Given the description of an element on the screen output the (x, y) to click on. 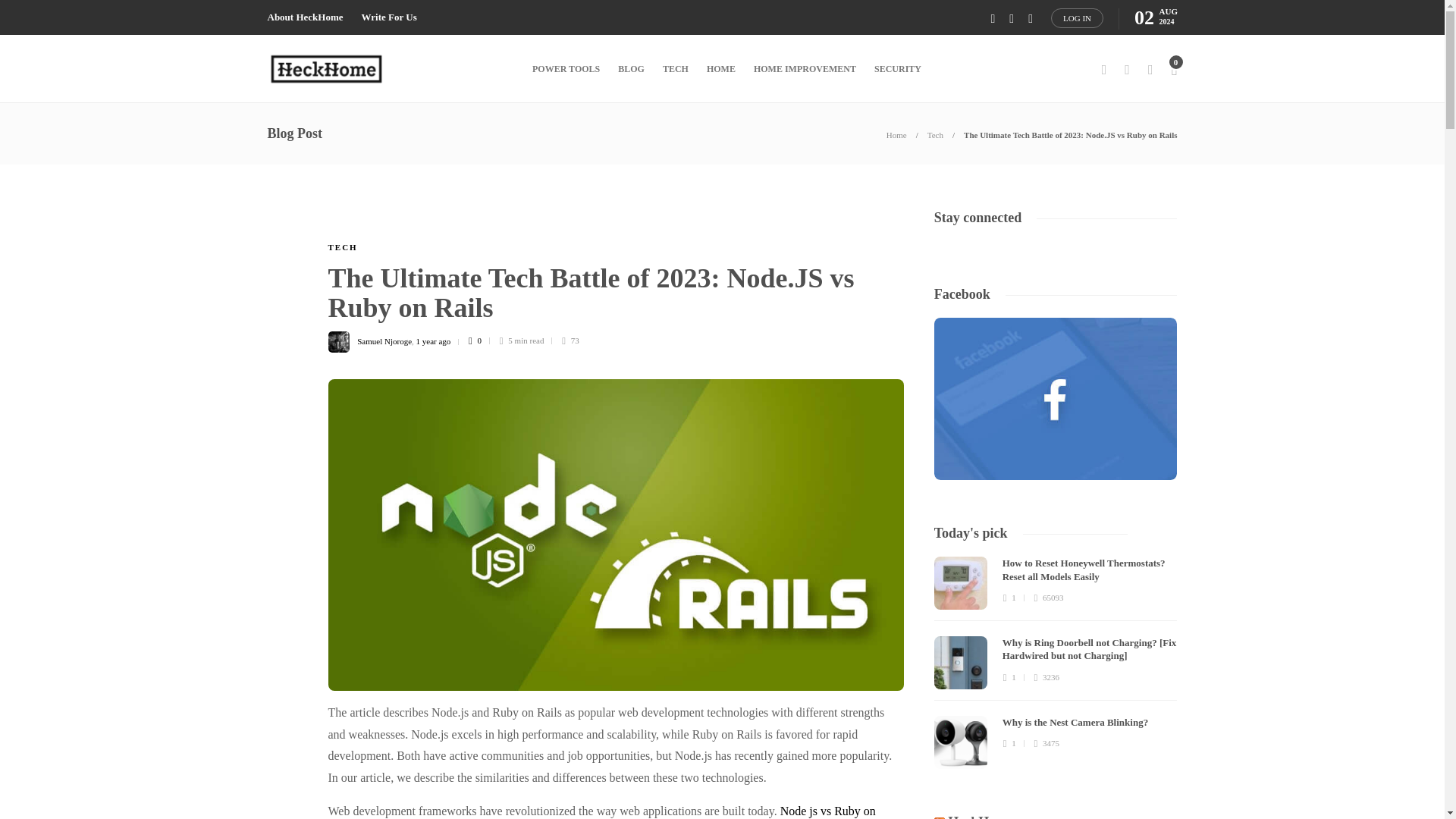
The Ultimate Tech Battle of 2023: Node.JS vs Ruby on Rails (1069, 134)
Home (896, 134)
